Given the description of an element on the screen output the (x, y) to click on. 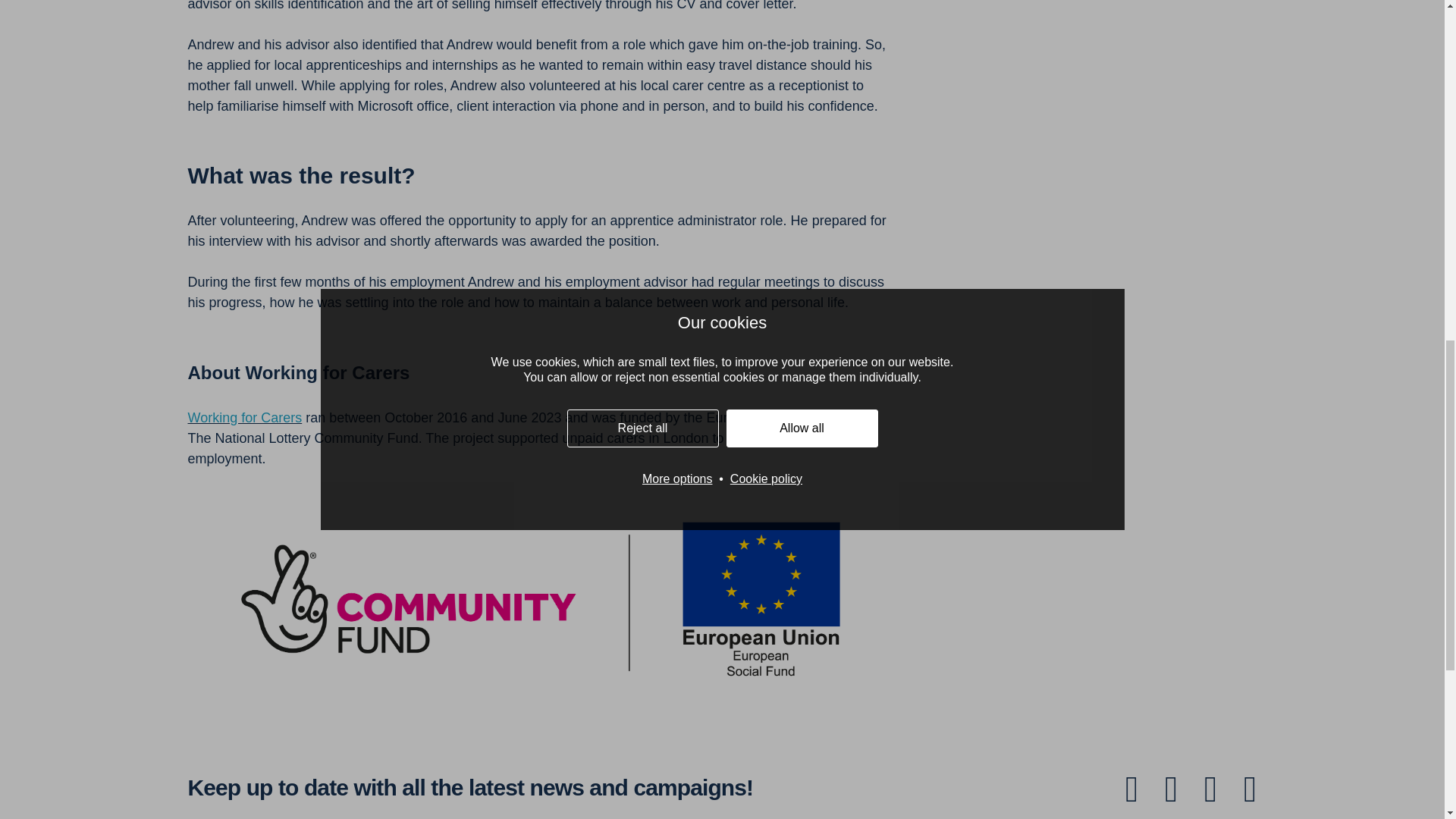
Working for Carers (244, 417)
